Given the description of an element on the screen output the (x, y) to click on. 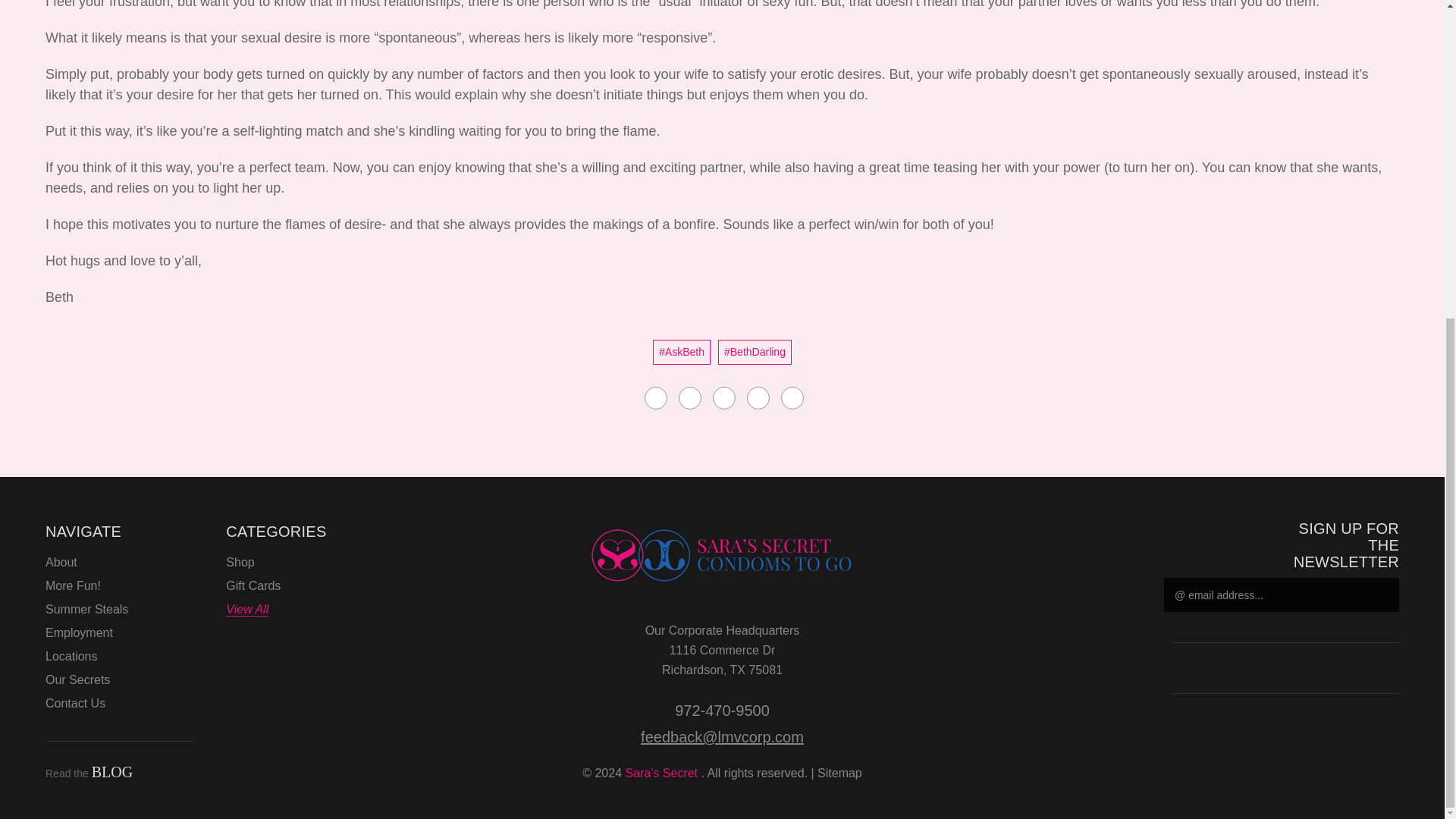
Facebook (1286, 669)
Twitter (1391, 669)
Youtube (1338, 669)
Print (724, 397)
Pinterest (791, 397)
Email (689, 397)
Facebook (655, 397)
Sara's Secret (722, 555)
Twitter (758, 397)
Instagram (1233, 669)
